Given the description of an element on the screen output the (x, y) to click on. 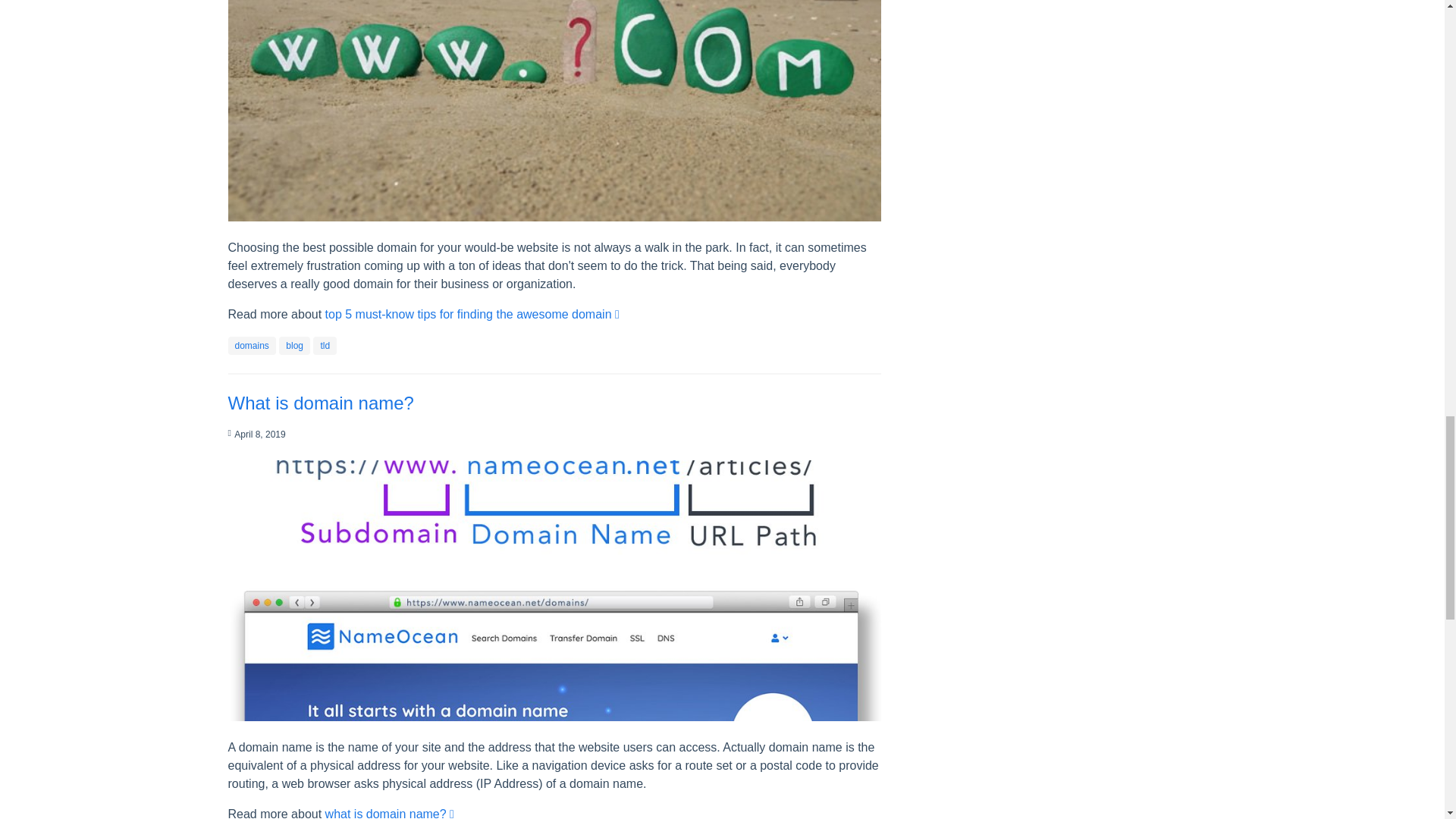
blog (293, 345)
What is domain name? (320, 403)
domains (251, 345)
top 5 must-know tips for finding the awesome domain (472, 314)
